Given the description of an element on the screen output the (x, y) to click on. 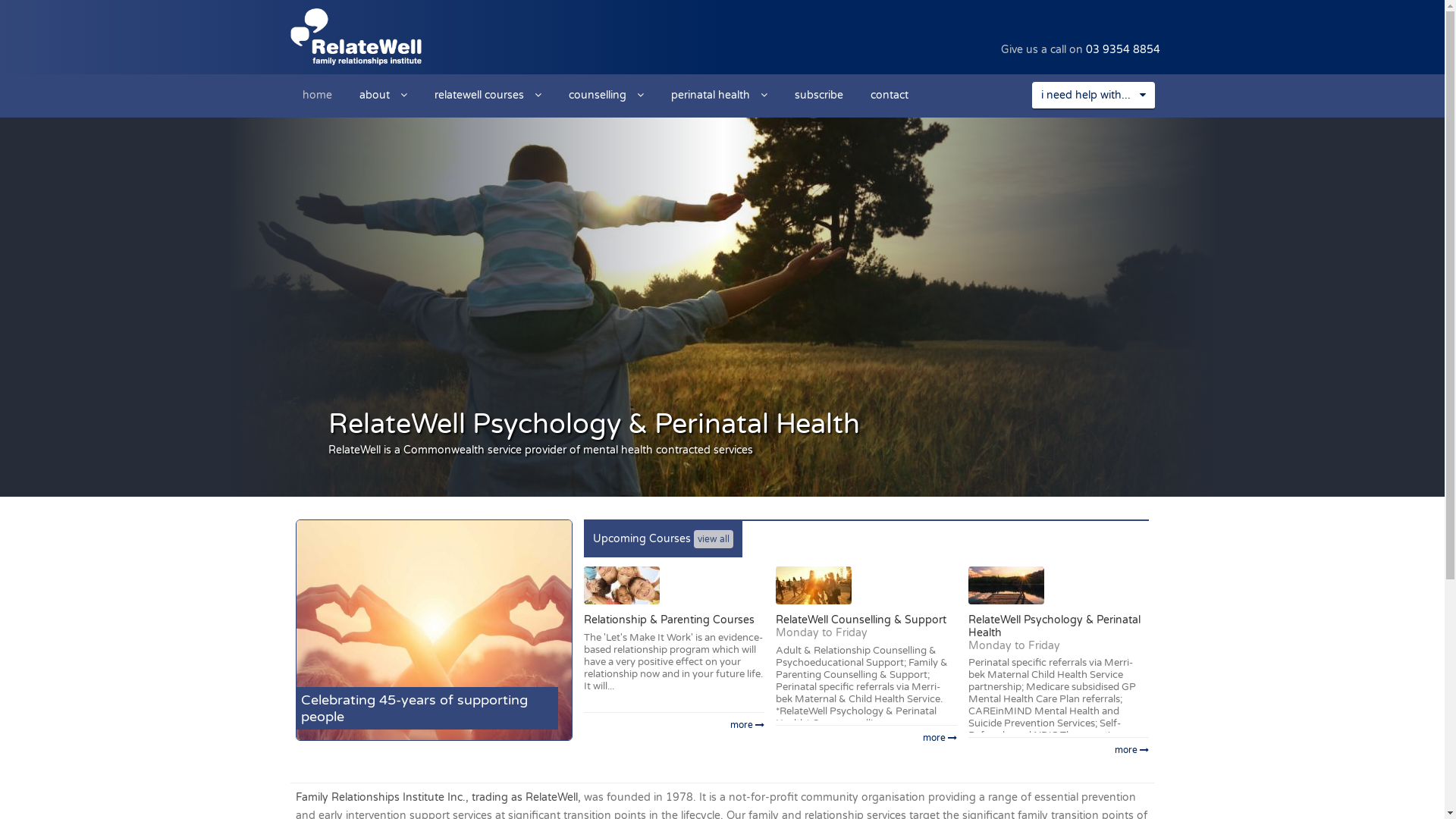
home Element type: text (316, 94)
more Element type: text (865, 736)
Celebrating 45-years of supporting people Element type: text (433, 629)
subscribe Element type: text (818, 94)
counselling Element type: text (605, 94)
more Element type: text (673, 724)
contact Element type: text (889, 94)
perinatal health Element type: text (718, 94)
Upcoming Courses view all Element type: text (662, 538)
more Element type: text (1058, 749)
relatewell courses Element type: text (486, 94)
i need help with... Element type: text (1092, 95)
about Element type: text (383, 94)
